Given the description of an element on the screen output the (x, y) to click on. 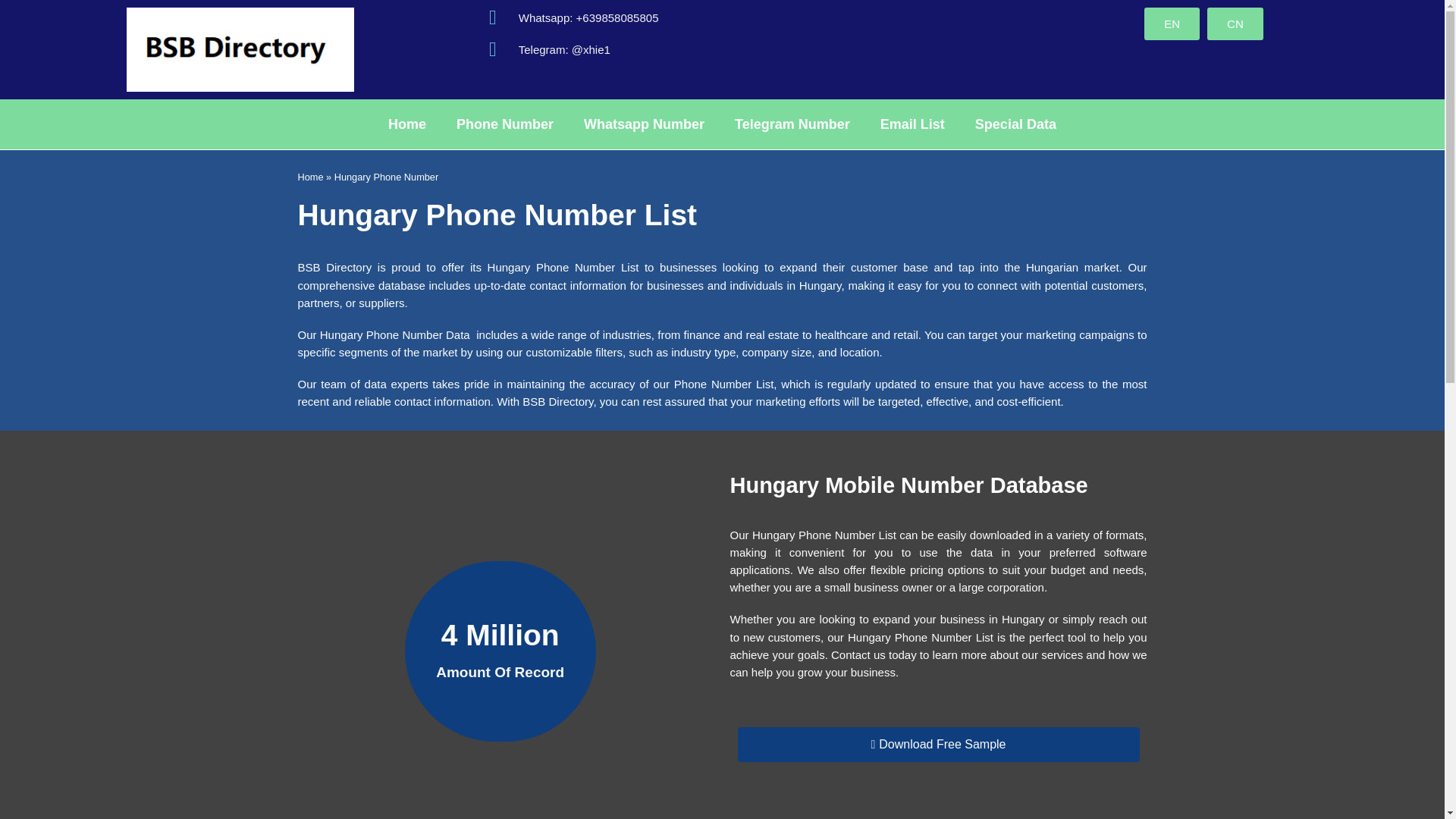
Email List (911, 124)
EN (1171, 23)
Special Data (1015, 124)
CN (1235, 23)
Home (310, 176)
Whatsapp Number (644, 124)
Phone Number (505, 124)
Home (406, 124)
Telegram Number (791, 124)
Download Free Sample (937, 744)
